Given the description of an element on the screen output the (x, y) to click on. 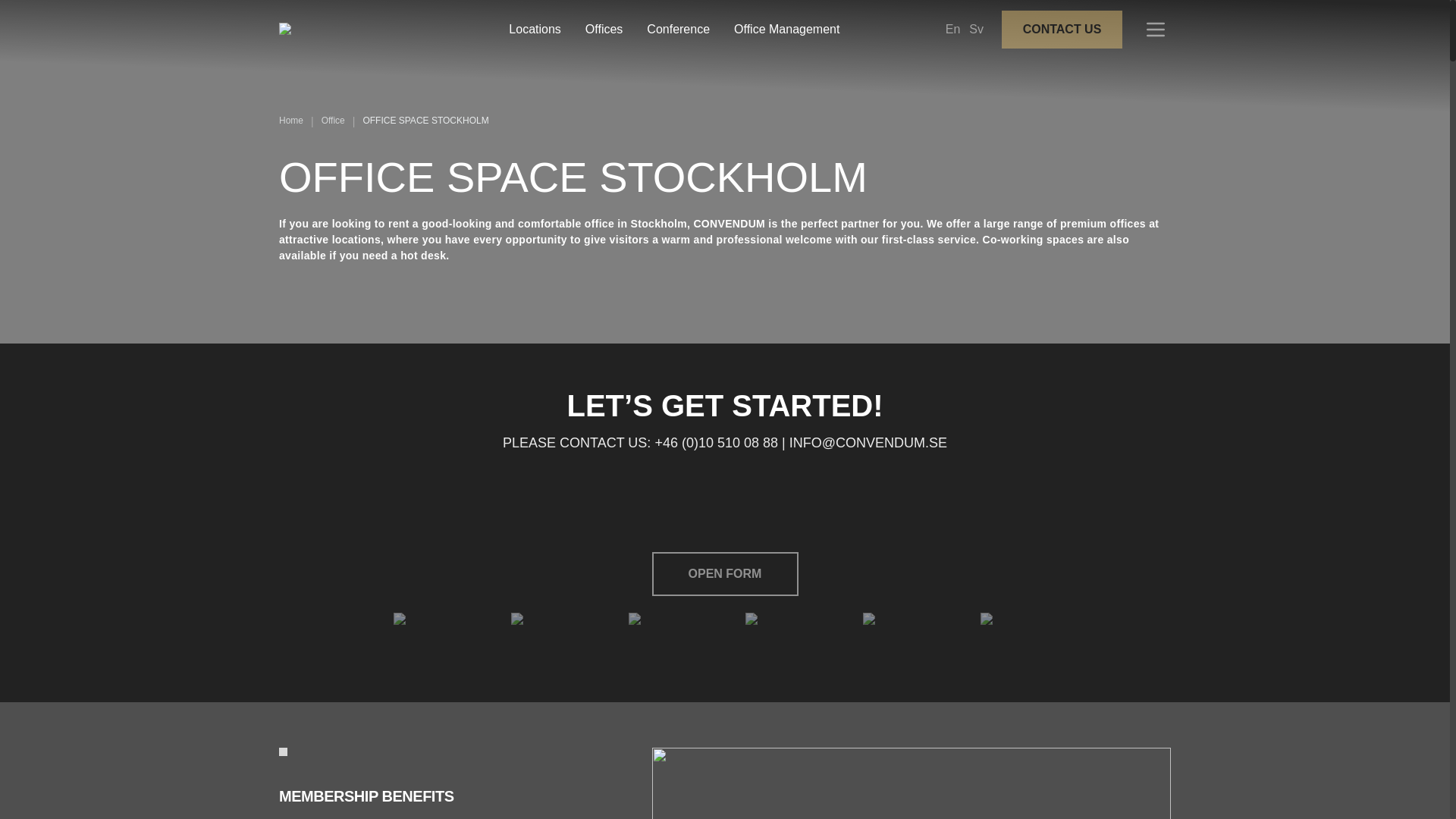
Office Management (786, 29)
Locations (534, 29)
OFFICE SPACE STOCKHOLM (424, 120)
Home (290, 120)
CONTACT US (1061, 29)
OPEN FORM (724, 574)
Offices (604, 29)
Conference (678, 29)
Office (333, 120)
